Given the description of an element on the screen output the (x, y) to click on. 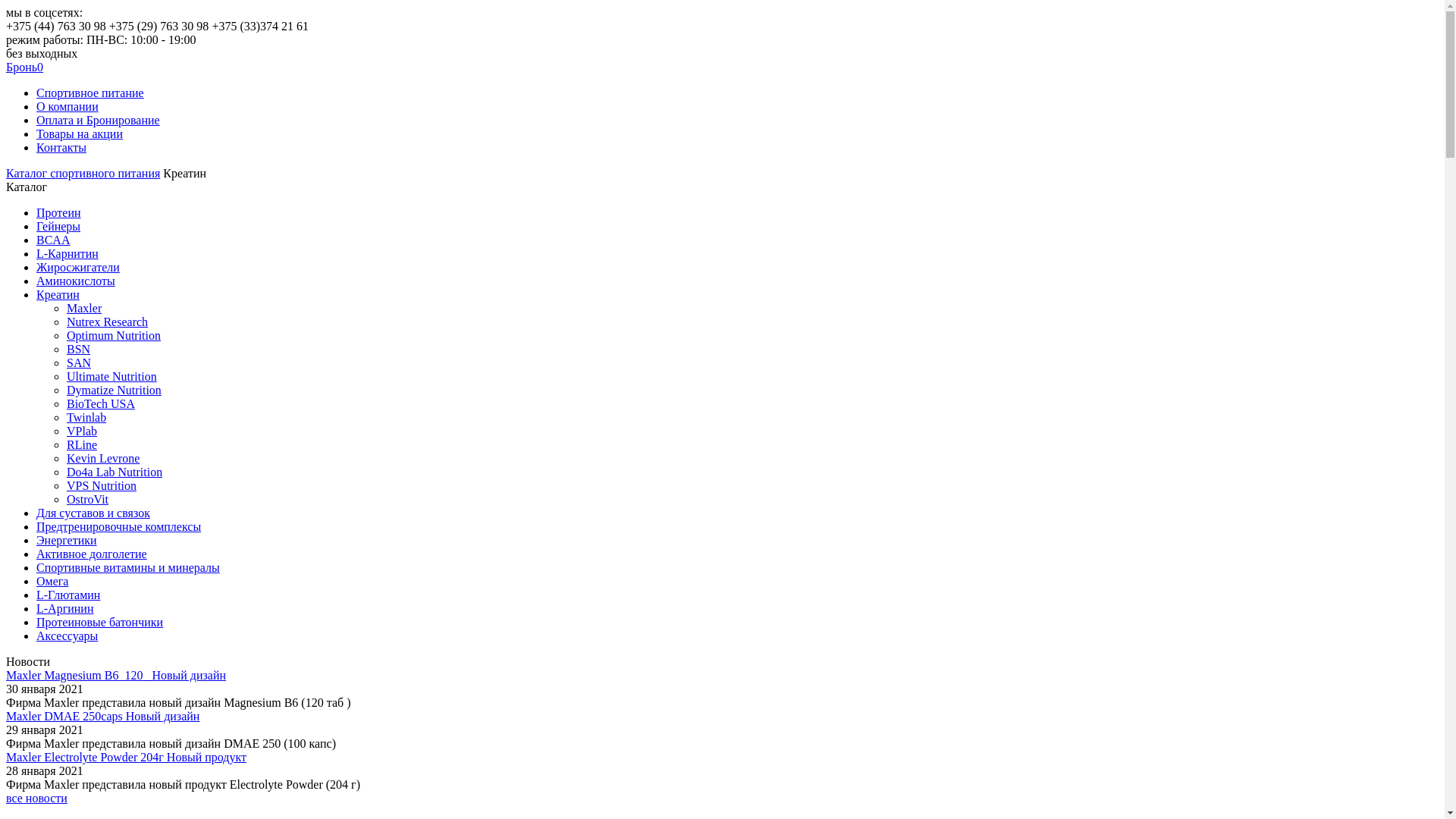
BSN Element type: text (78, 348)
Dymatize Nutrition Element type: text (113, 389)
+375 (33)374 21 61 Element type: text (259, 25)
+375 (29) 763 30 98 Element type: text (159, 25)
RLine Element type: text (81, 444)
Nutrex Research Element type: text (106, 321)
Maxler Element type: text (83, 307)
Ultimate Nutrition Element type: text (111, 376)
Kevin Levrone Element type: text (102, 457)
+375 (44) 763 30 98 Element type: text (56, 25)
BioTech USA Element type: text (100, 403)
SAN Element type: text (78, 362)
BCAA Element type: text (52, 239)
Optimum Nutrition Element type: text (113, 335)
OstroVit Element type: text (87, 498)
VPS Nutrition Element type: text (101, 485)
Do4a Lab Nutrition Element type: text (114, 471)
VPlab Element type: text (81, 430)
Twinlab Element type: text (86, 417)
